Given the description of an element on the screen output the (x, y) to click on. 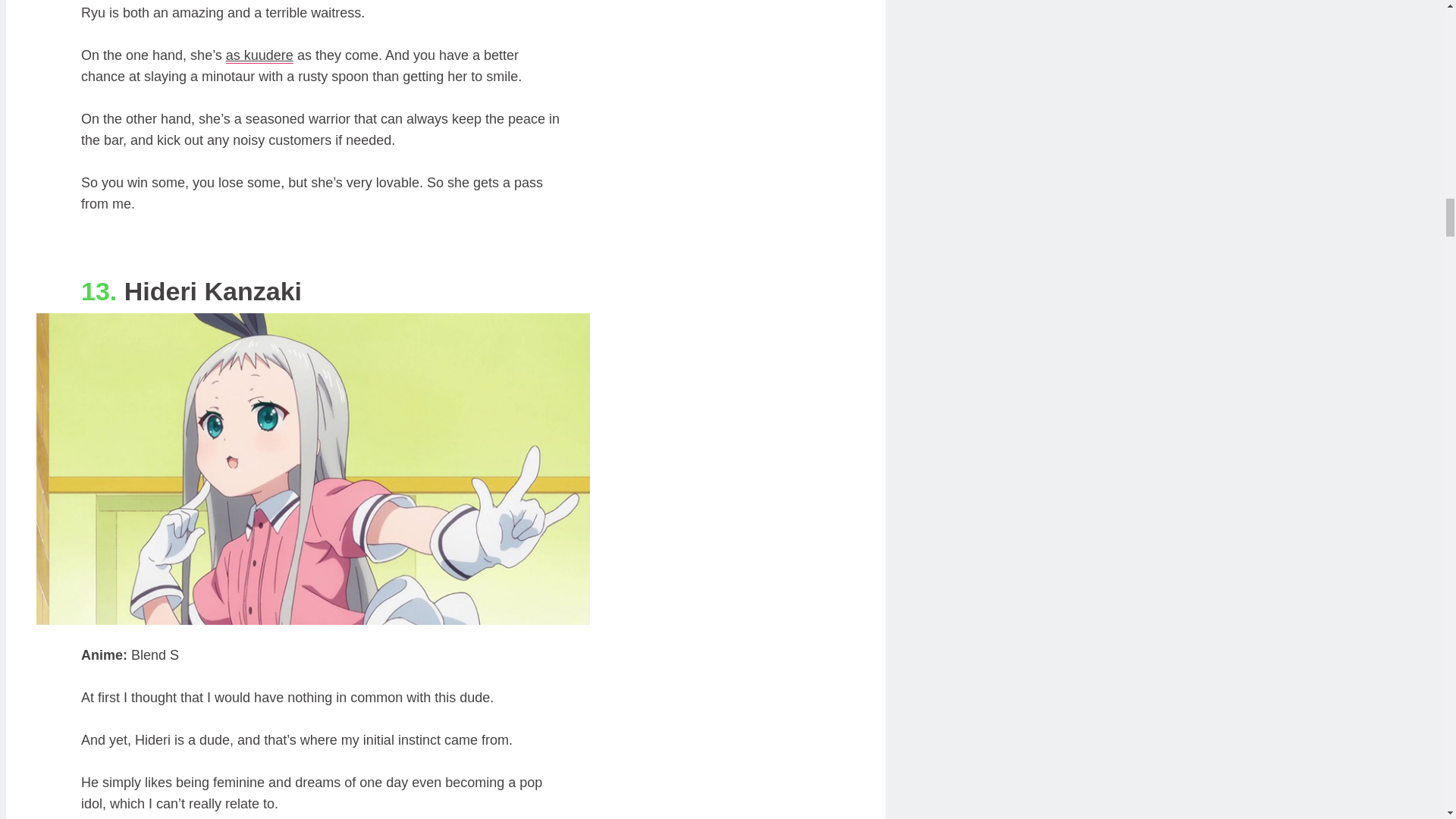
as kuudere (259, 55)
